Given the description of an element on the screen output the (x, y) to click on. 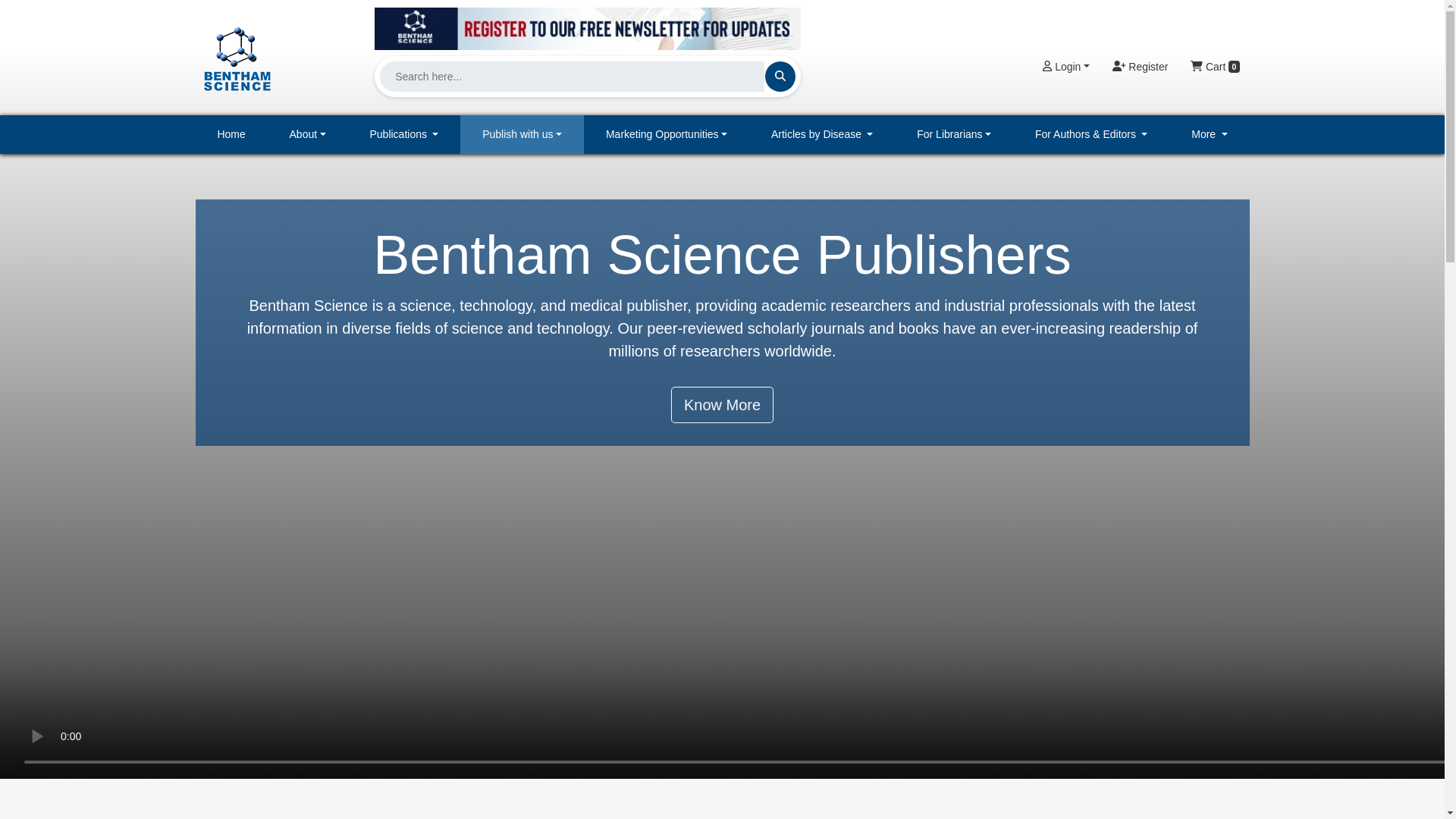
Register (1139, 67)
newsletter banner (587, 24)
Login (1065, 67)
About (307, 134)
Publications (404, 134)
newsletter banner (587, 28)
Search Button (779, 76)
Cart 0 (1214, 67)
Home (231, 134)
